Given the description of an element on the screen output the (x, y) to click on. 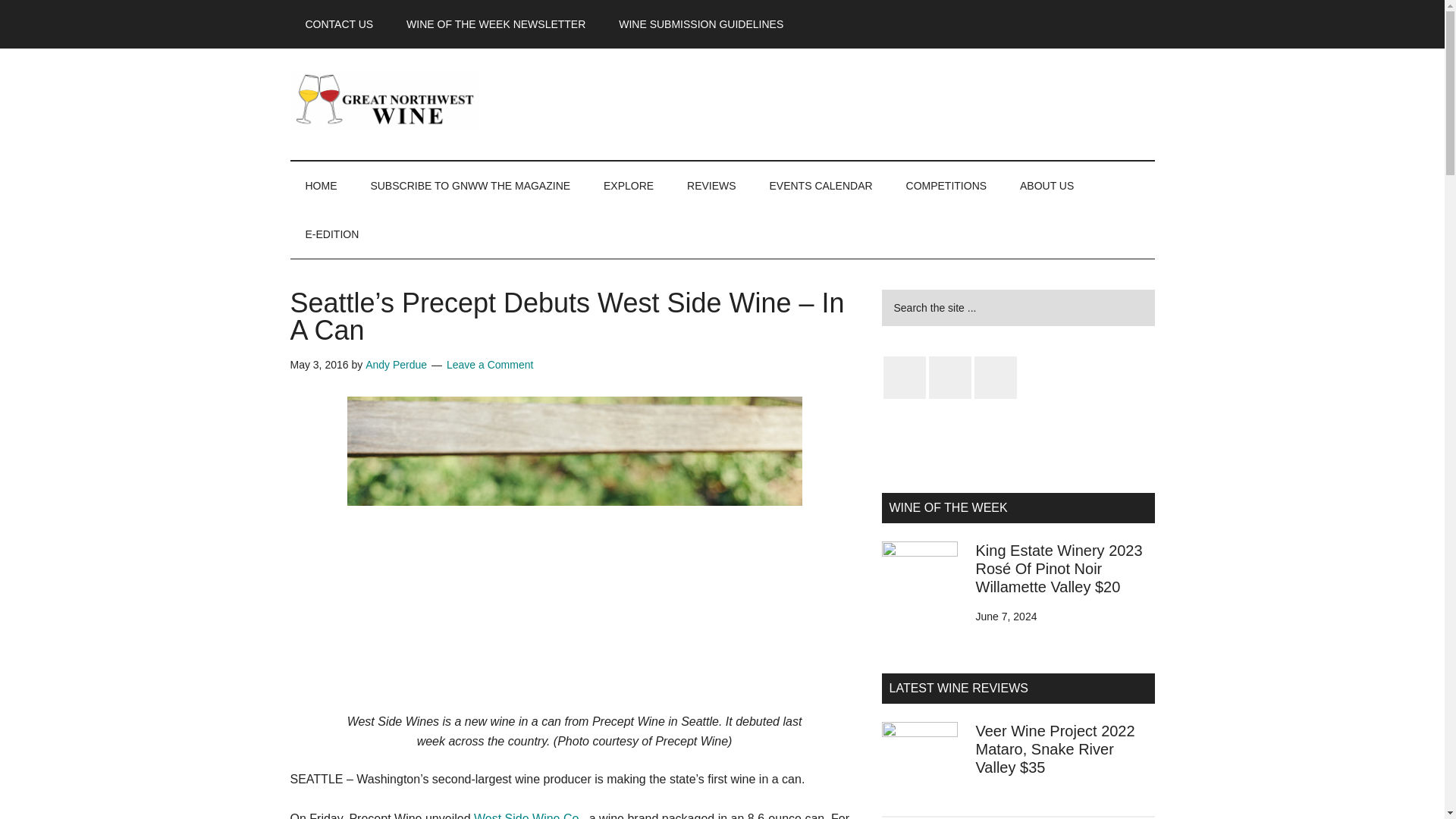
CONTACT US (338, 24)
COMPETITIONS (947, 185)
REVIEWS (711, 185)
SUBSCRIBE TO GNWW THE MAGAZINE (470, 185)
WINE OF THE WEEK NEWSLETTER (495, 24)
ABOUT US (1046, 185)
EXPLORE (628, 185)
EVENTS CALENDAR (820, 185)
